Given the description of an element on the screen output the (x, y) to click on. 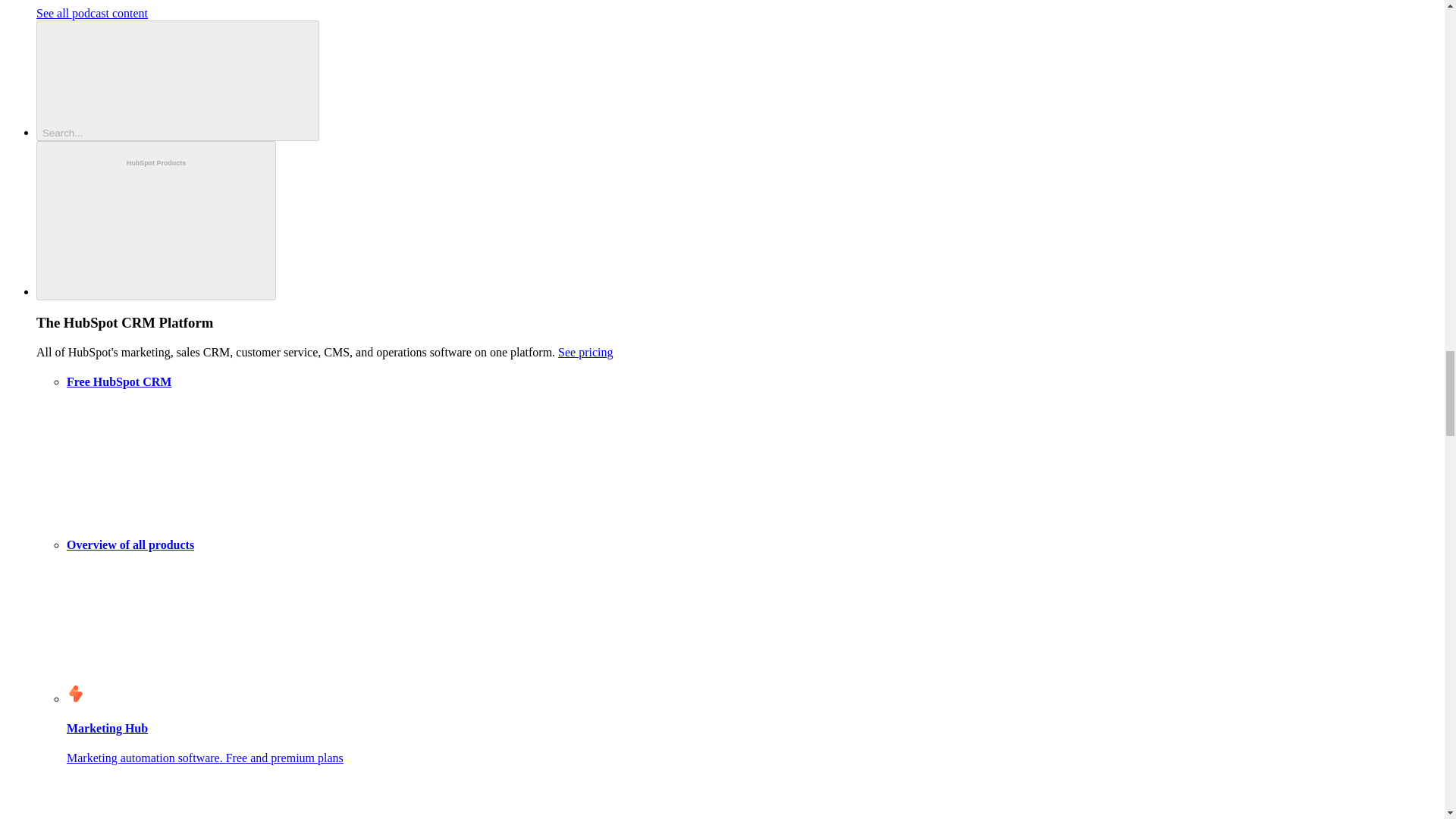
See pricing (584, 351)
HubSpot Products (156, 220)
Search... (177, 80)
See all podcast content (92, 12)
